Given the description of an element on the screen output the (x, y) to click on. 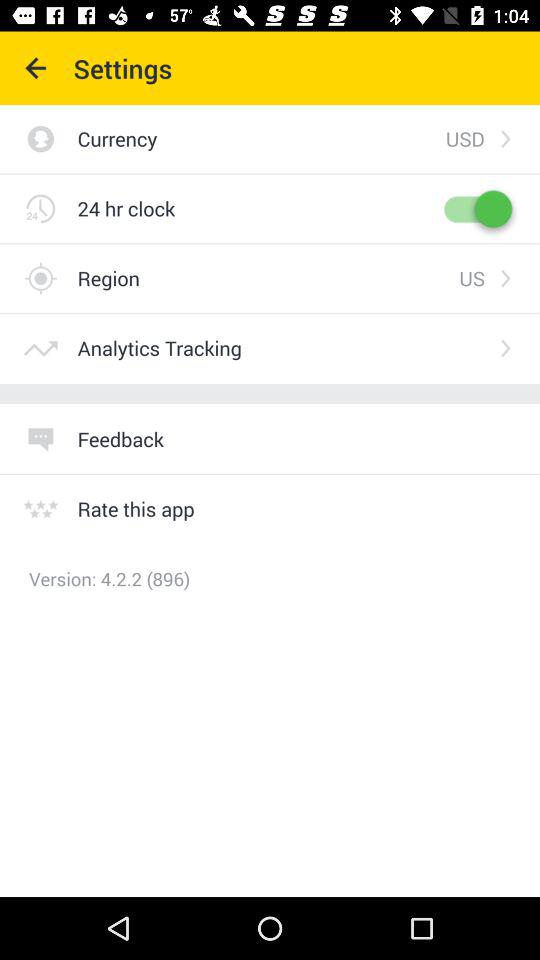
press the icon next to the currency (464, 138)
